Given the description of an element on the screen output the (x, y) to click on. 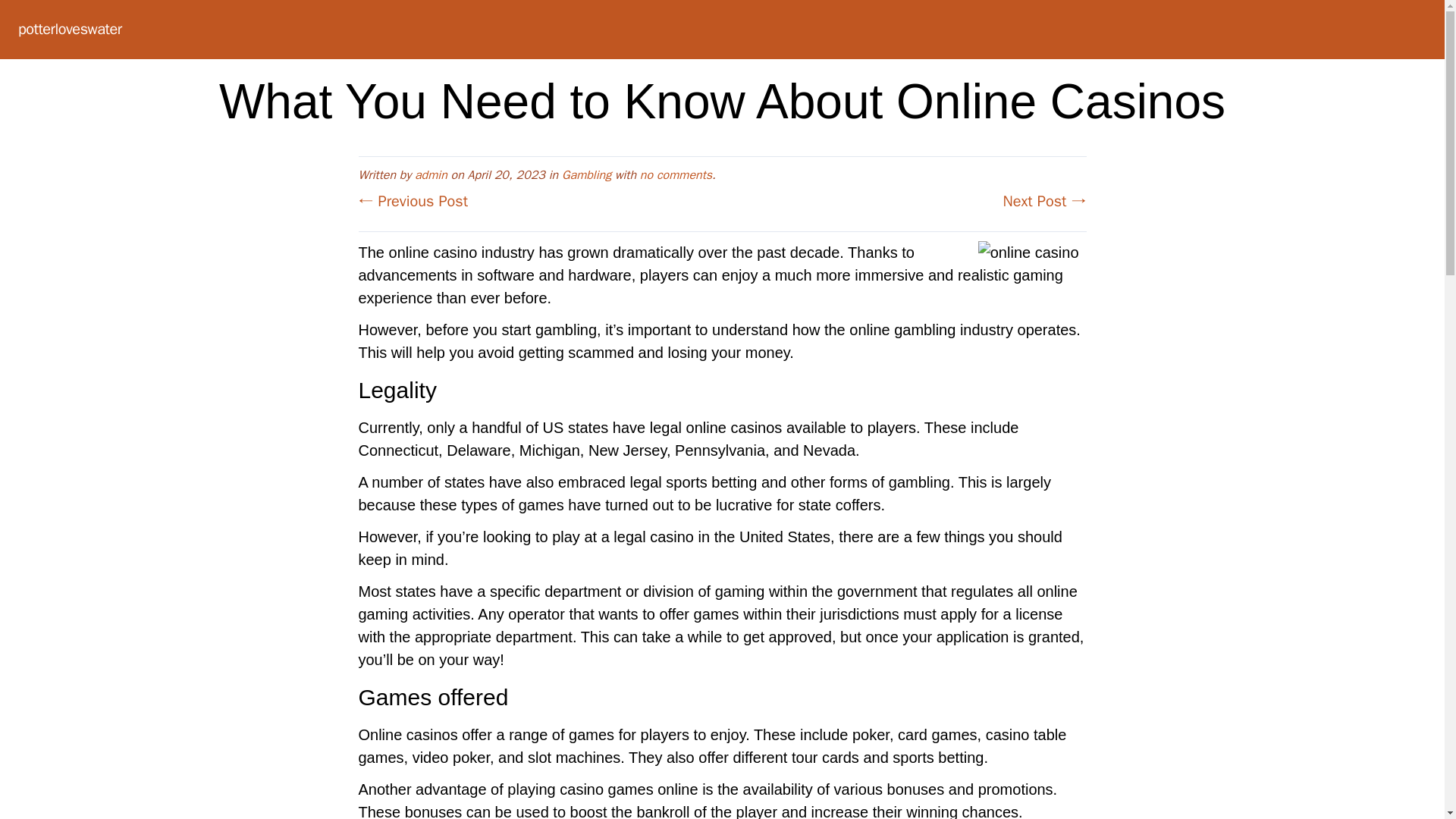
no comments (675, 174)
admin (430, 174)
Gambling (586, 174)
no comments (675, 174)
potterloveswater (69, 29)
